Given the description of an element on the screen output the (x, y) to click on. 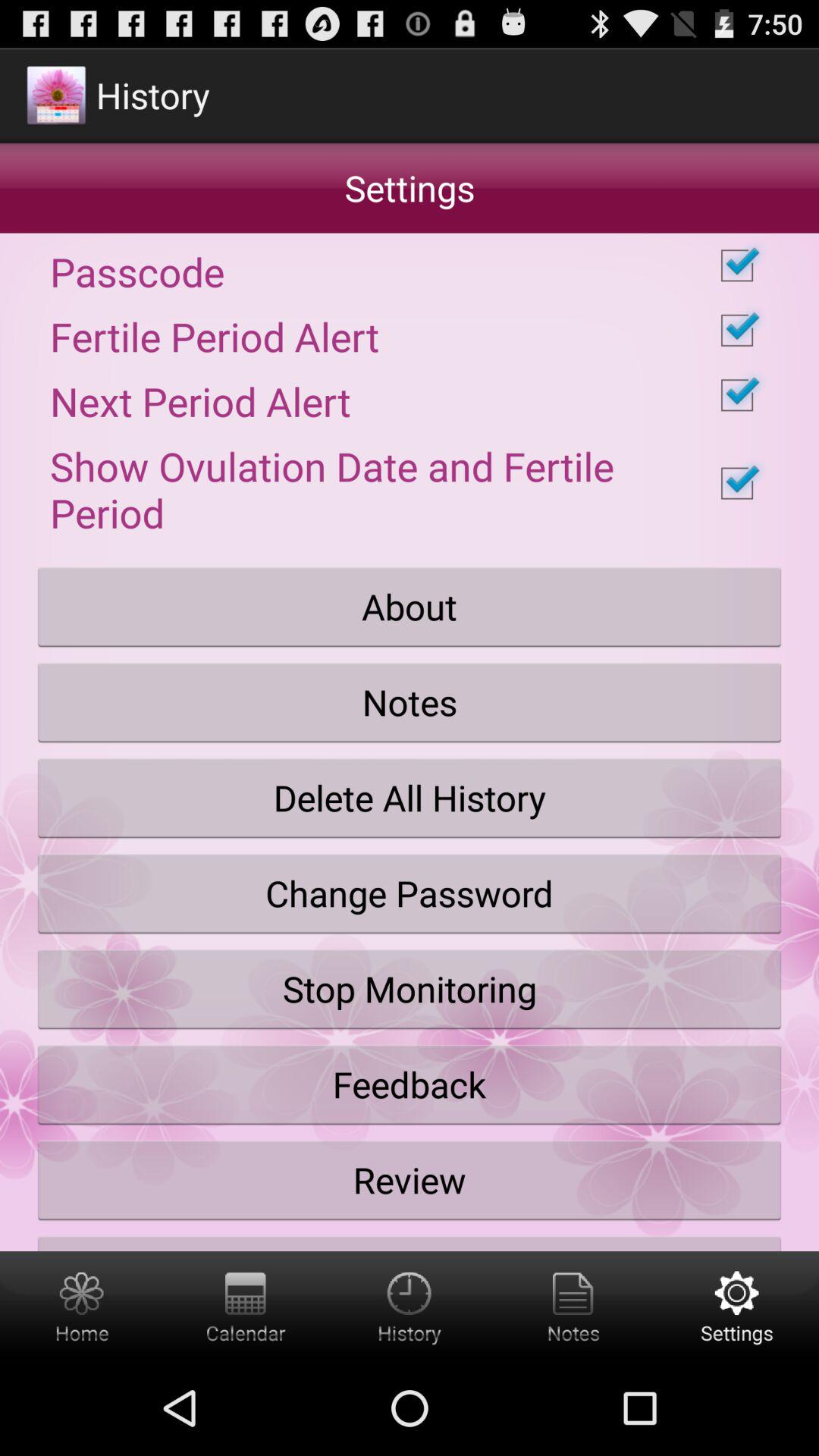
open notes (573, 1305)
